Given the description of an element on the screen output the (x, y) to click on. 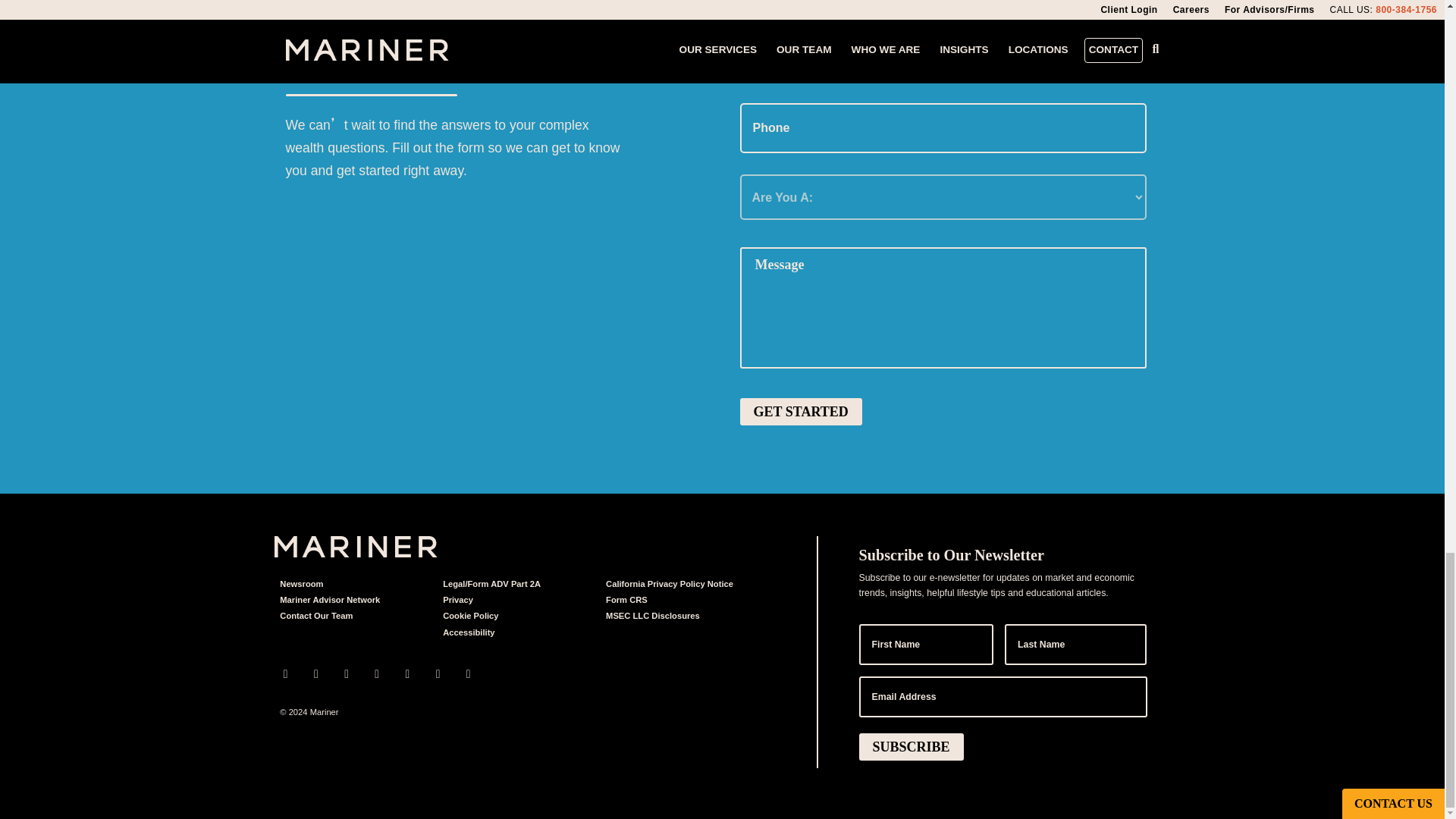
Subscribe (911, 746)
Get Started (800, 411)
